Given the description of an element on the screen output the (x, y) to click on. 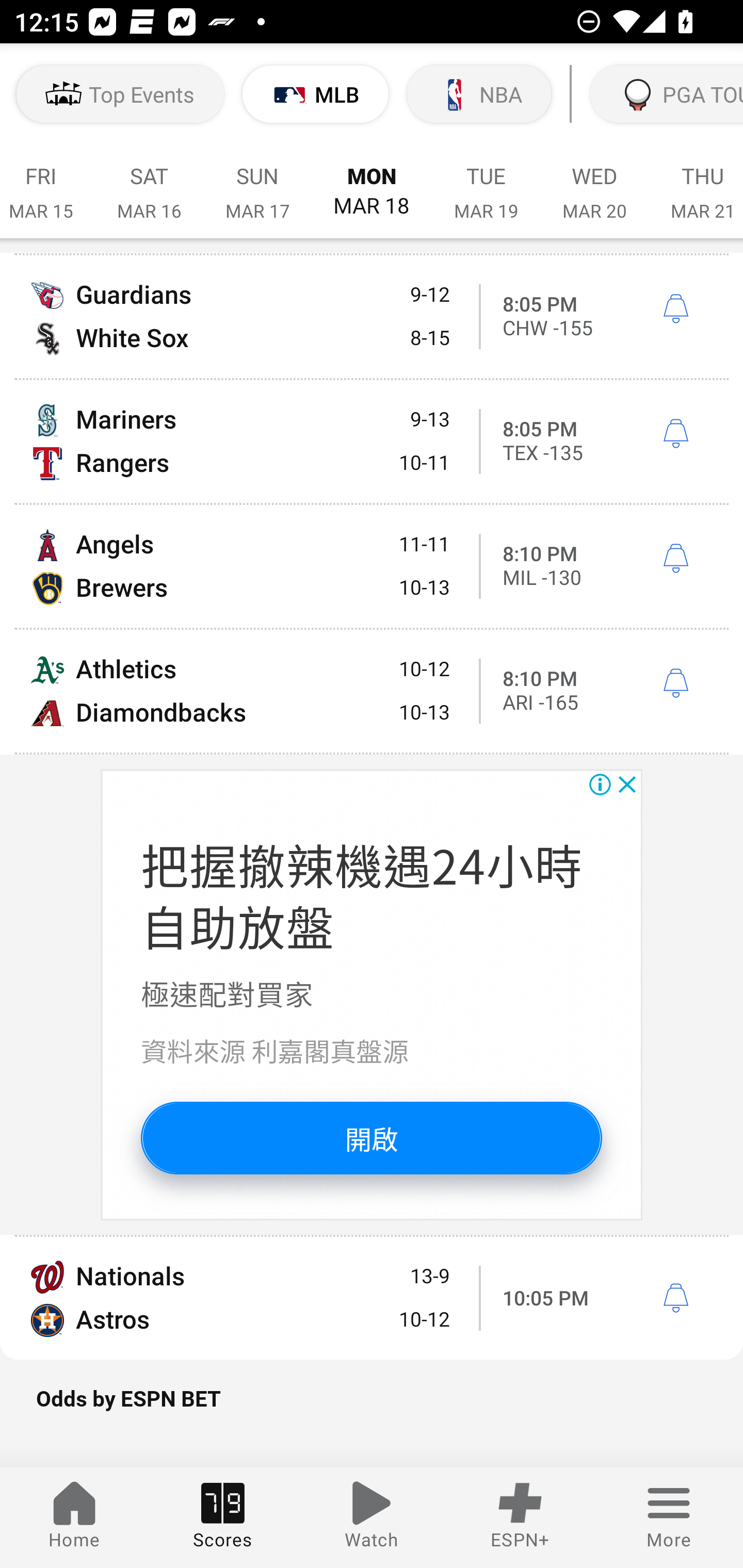
 Top Events (119, 93)
MLB (315, 93)
NBA (479, 93)
PGA TOUR (664, 93)
FRI MAR 15 (47, 181)
SAT MAR 16 (149, 181)
SUN MAR 17 (257, 181)
MON MAR 18 (371, 181)
TUE MAR 19 (485, 181)
WED MAR 20 (594, 181)
THU MAR 21 (695, 181)
Guardians 9-12 White Sox 8-15 8:05 PM CHW -155 í (371, 316)
í (675, 309)
Mariners 9-13 Rangers 10-11 8:05 PM TEX -135 í (371, 441)
í (675, 433)
Angels 11-11 Brewers 10-13 8:10 PM MIL -130 í (371, 565)
í (675, 558)
í (675, 683)
把握撤辣機遇24小時 自助放盤 把握撤辣機遇24小時 自助放盤 (362, 894)
極速配對買家 (227, 992)
資料來源 利嘉閣真盤源 (274, 1049)
開啟 (371, 1137)
Nationals 13-9 Astros 10-12 10:05 PM í (371, 1298)
í (675, 1297)
Odds by ESPN BET (371, 1408)
Home (74, 1517)
Watch (371, 1517)
ESPN+ (519, 1517)
More (668, 1517)
